Given the description of an element on the screen output the (x, y) to click on. 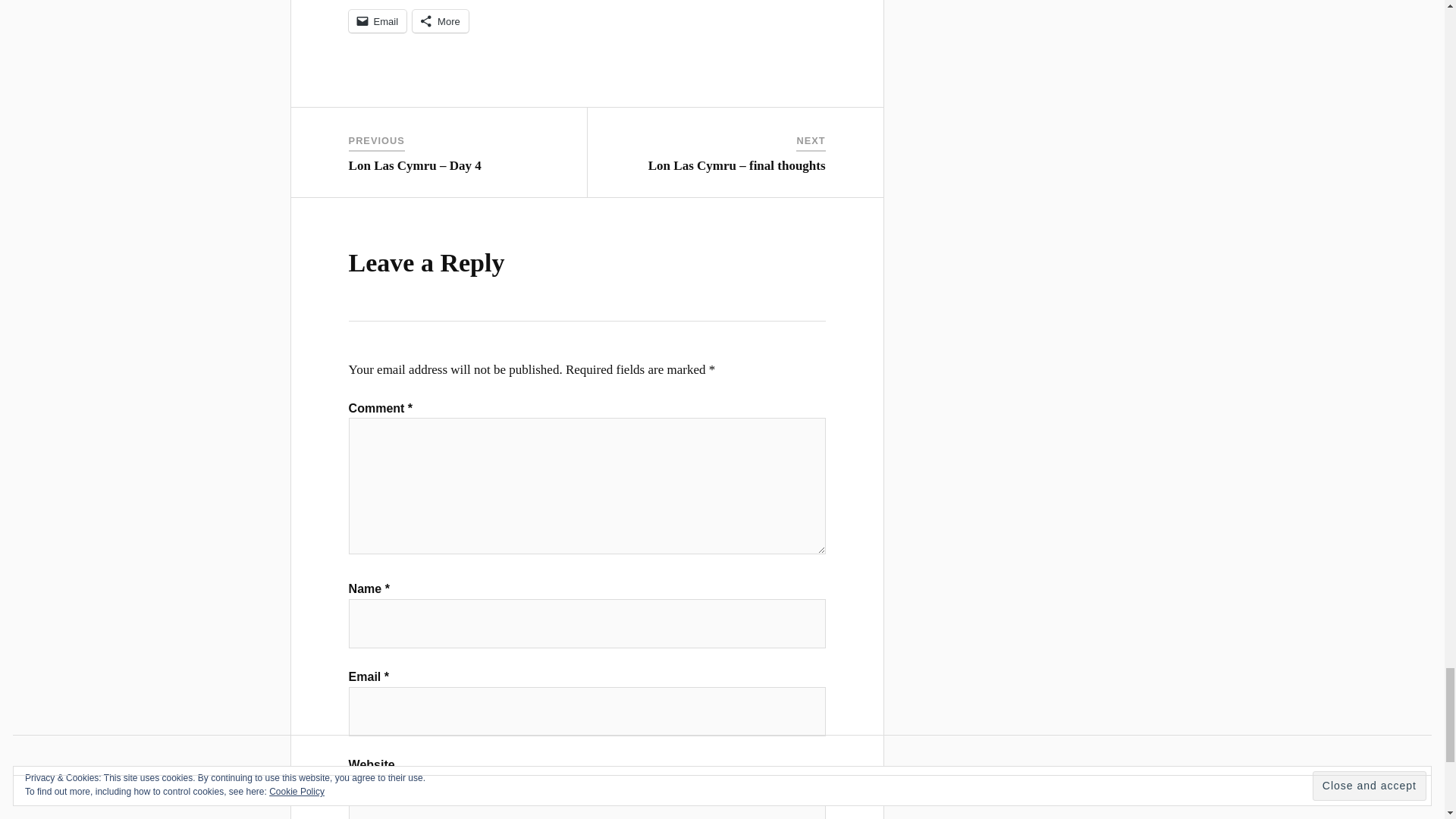
Click to email a link to a friend (378, 20)
More (440, 20)
Email (378, 20)
